Given the description of an element on the screen output the (x, y) to click on. 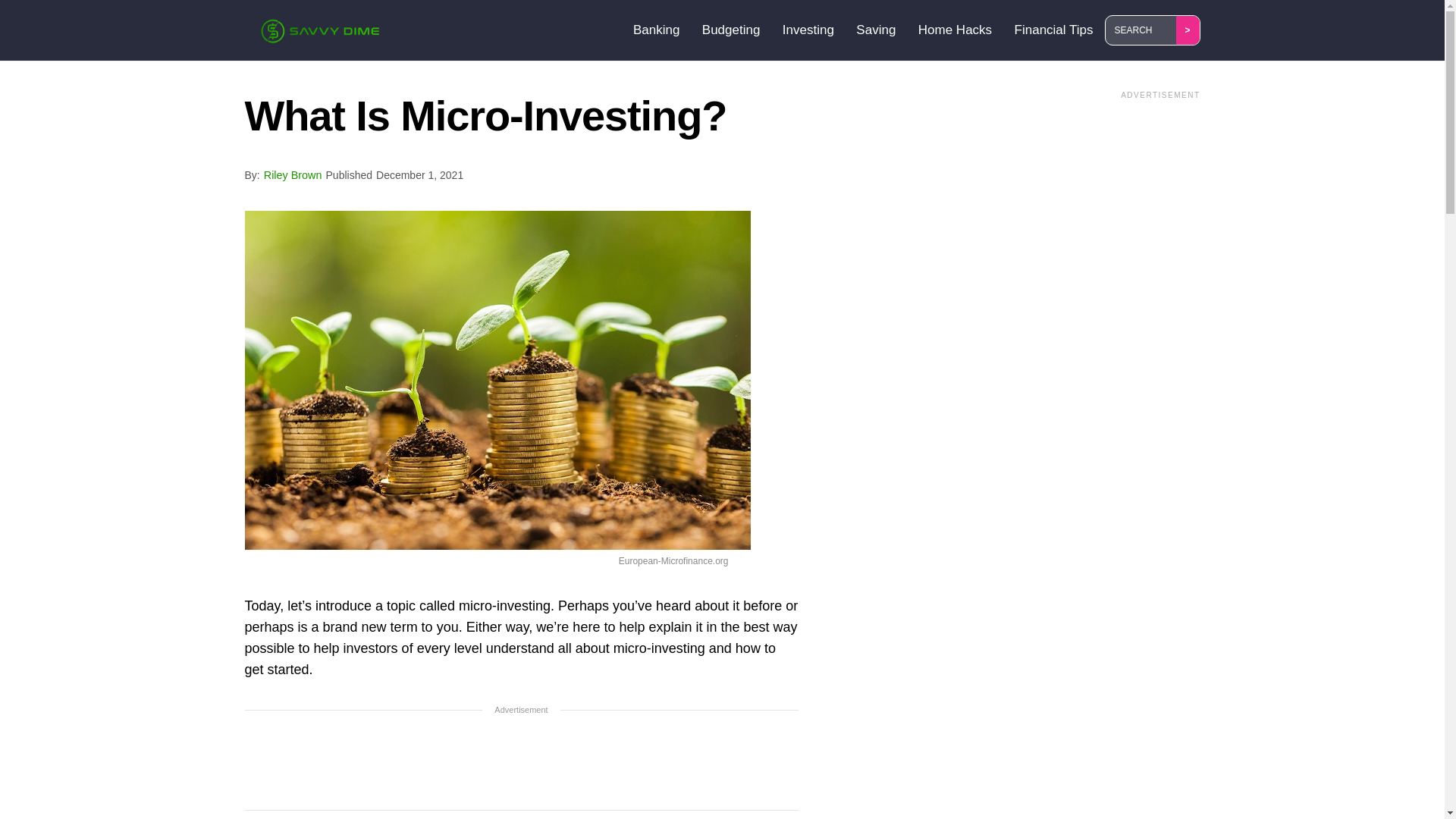
Saving (877, 29)
Posts by Riley Brown (292, 174)
Budgeting (732, 29)
Home Hacks (957, 29)
Riley Brown (292, 174)
Investing (809, 29)
Financial Tips (1056, 29)
Search (1142, 30)
Banking (658, 29)
